Given the description of an element on the screen output the (x, y) to click on. 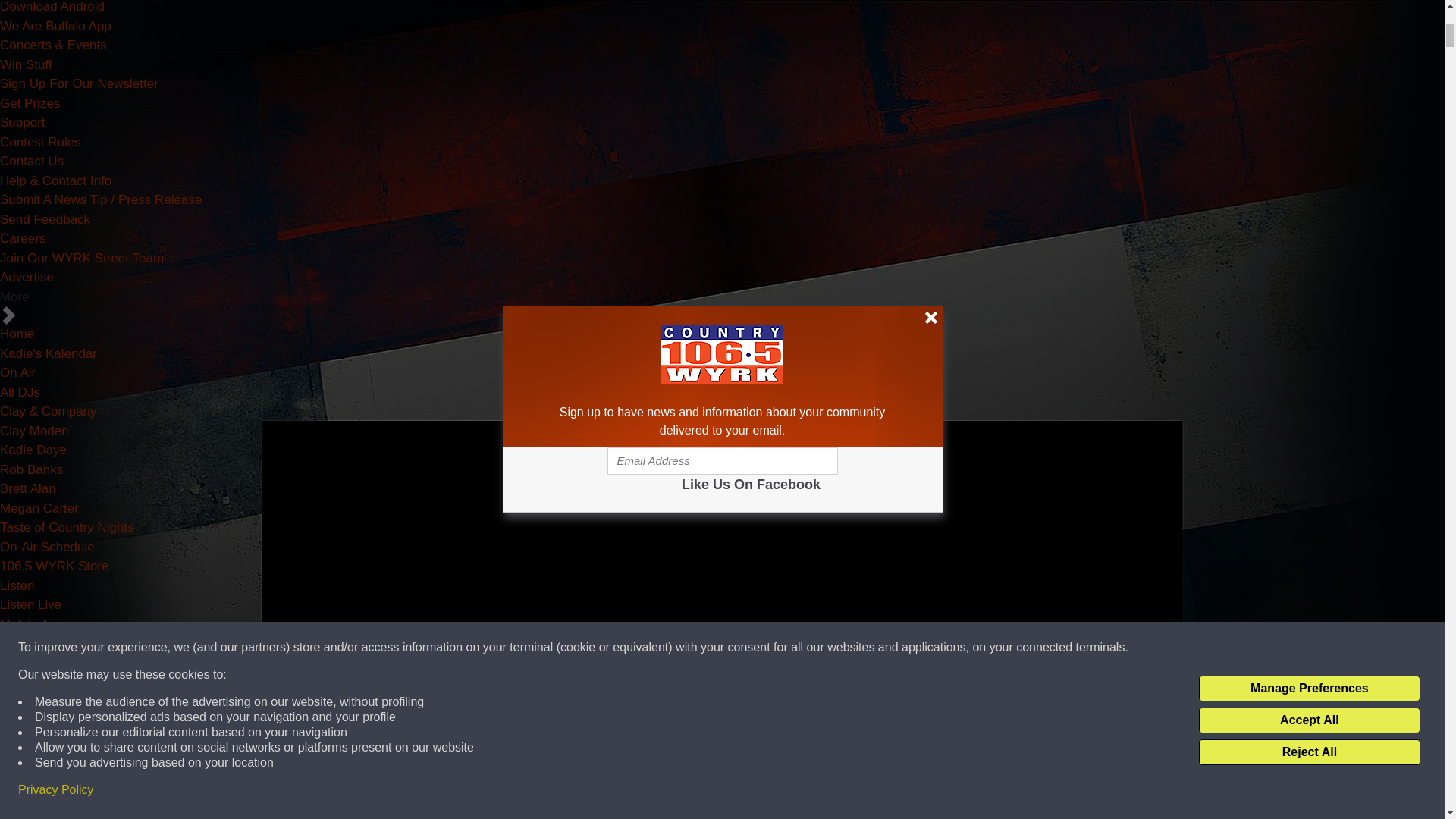
We Are Buffalo App (56, 25)
Download Android (52, 6)
Win Stuff (26, 64)
